Given the description of an element on the screen output the (x, y) to click on. 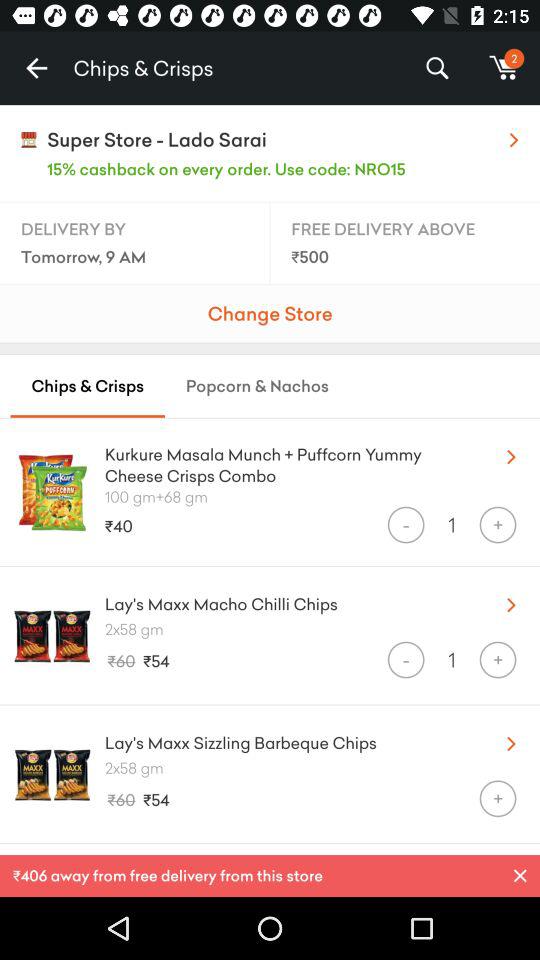
turn off icon next to chips & crisps icon (36, 68)
